Given the description of an element on the screen output the (x, y) to click on. 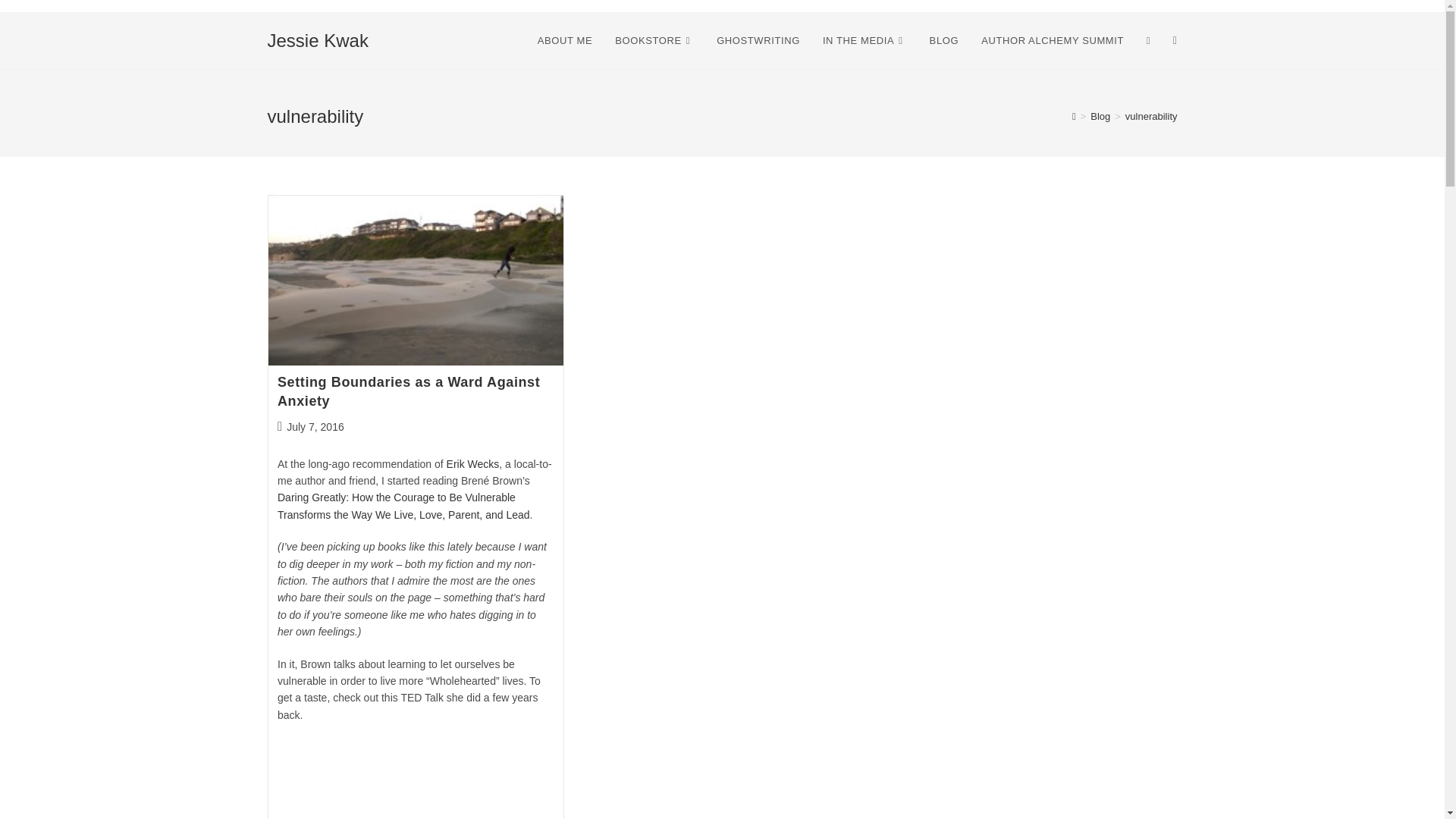
GHOSTWRITING (757, 40)
ABOUT ME (564, 40)
AUTHOR ALCHEMY SUMMIT (1052, 40)
BOOKSTORE (654, 40)
BLOG (944, 40)
IN THE MEDIA (864, 40)
Jessie Kwak (317, 40)
